Given the description of an element on the screen output the (x, y) to click on. 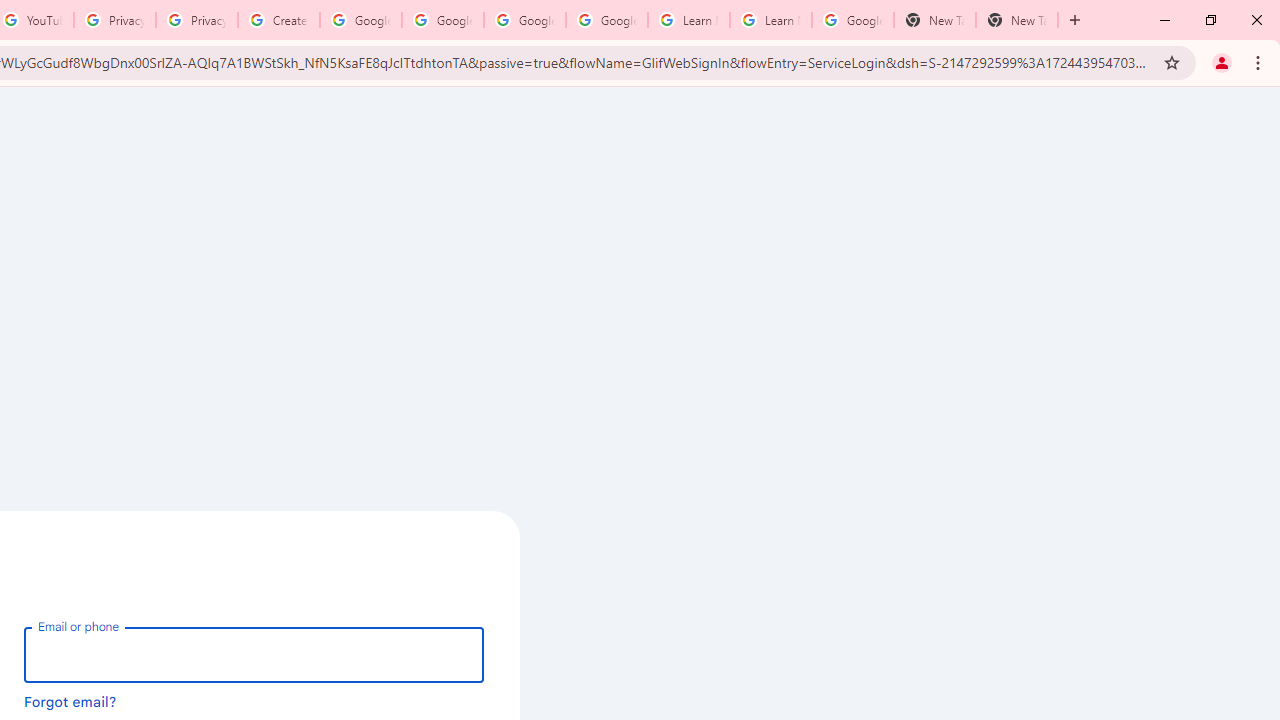
New Tab (1016, 20)
Email or phone (253, 654)
